Given the description of an element on the screen output the (x, y) to click on. 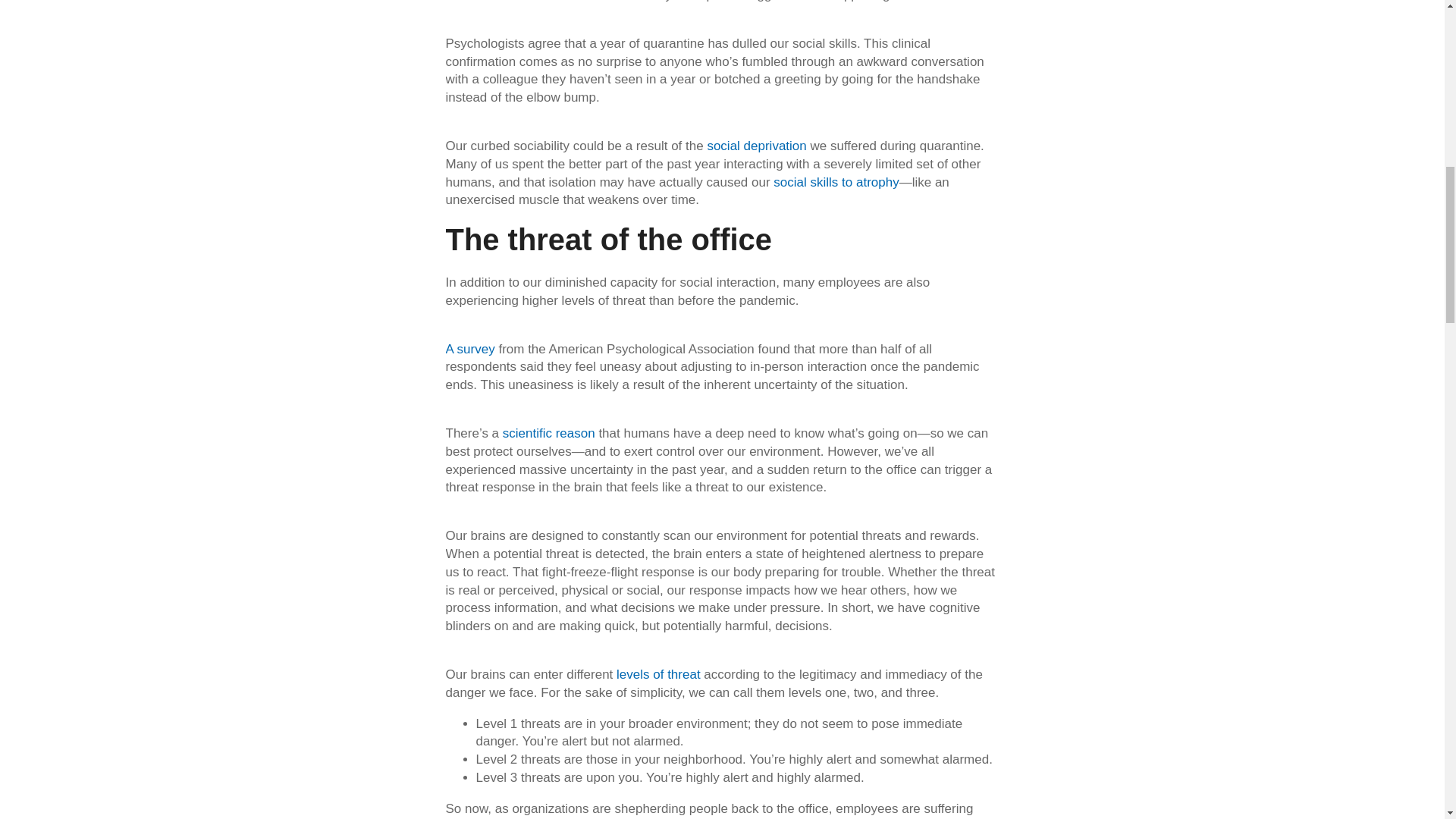
social deprivation (756, 145)
social skills to atrophy (835, 182)
A survey (470, 349)
levels of threat (657, 674)
scientific reason (548, 432)
